Given the description of an element on the screen output the (x, y) to click on. 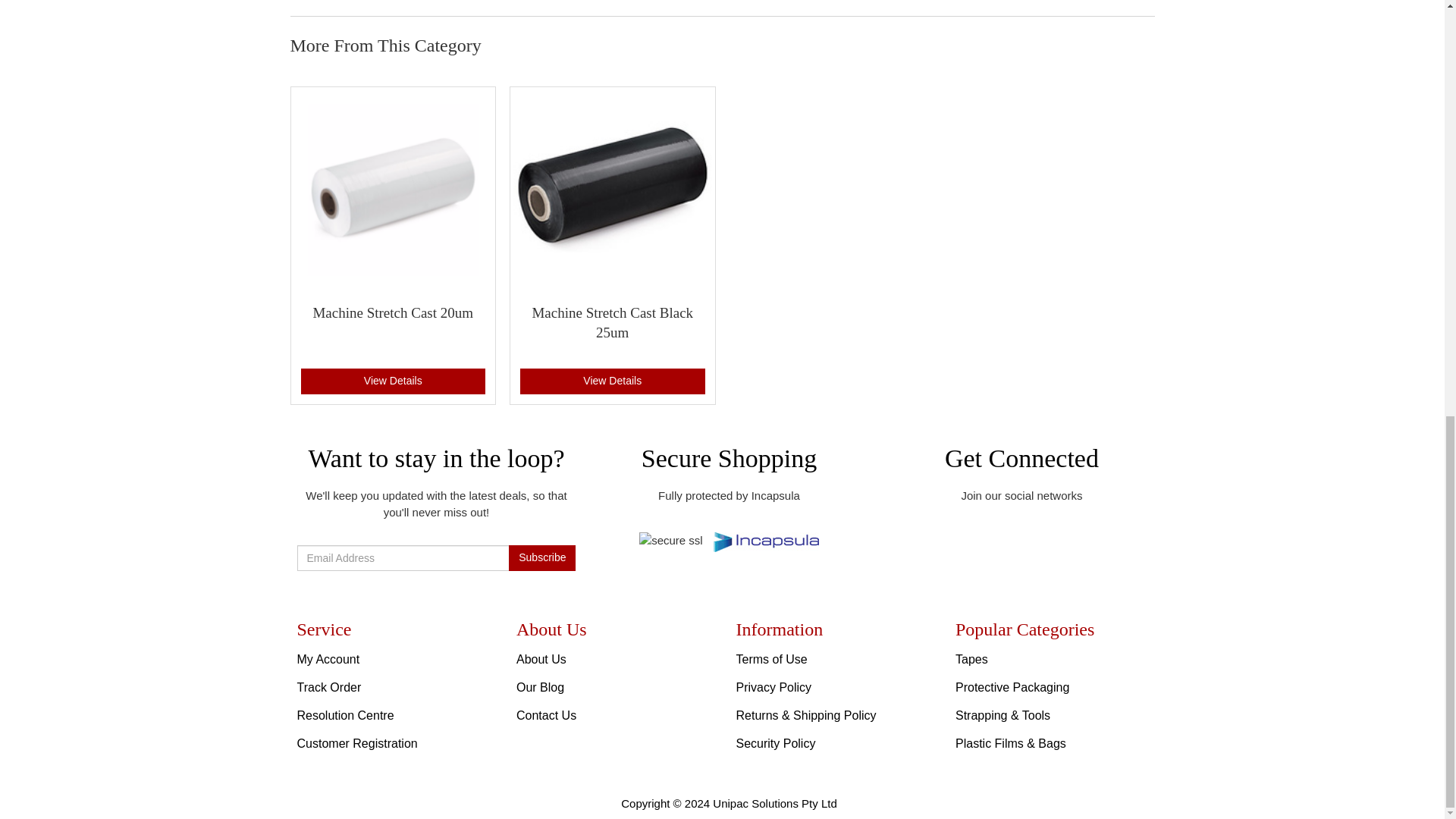
Machine Stretch Cast Black 25um (612, 322)
Machine Stretch Cast 20um (393, 312)
Subscribe (541, 557)
Buying Options (391, 380)
Buying Options (611, 380)
